Given the description of an element on the screen output the (x, y) to click on. 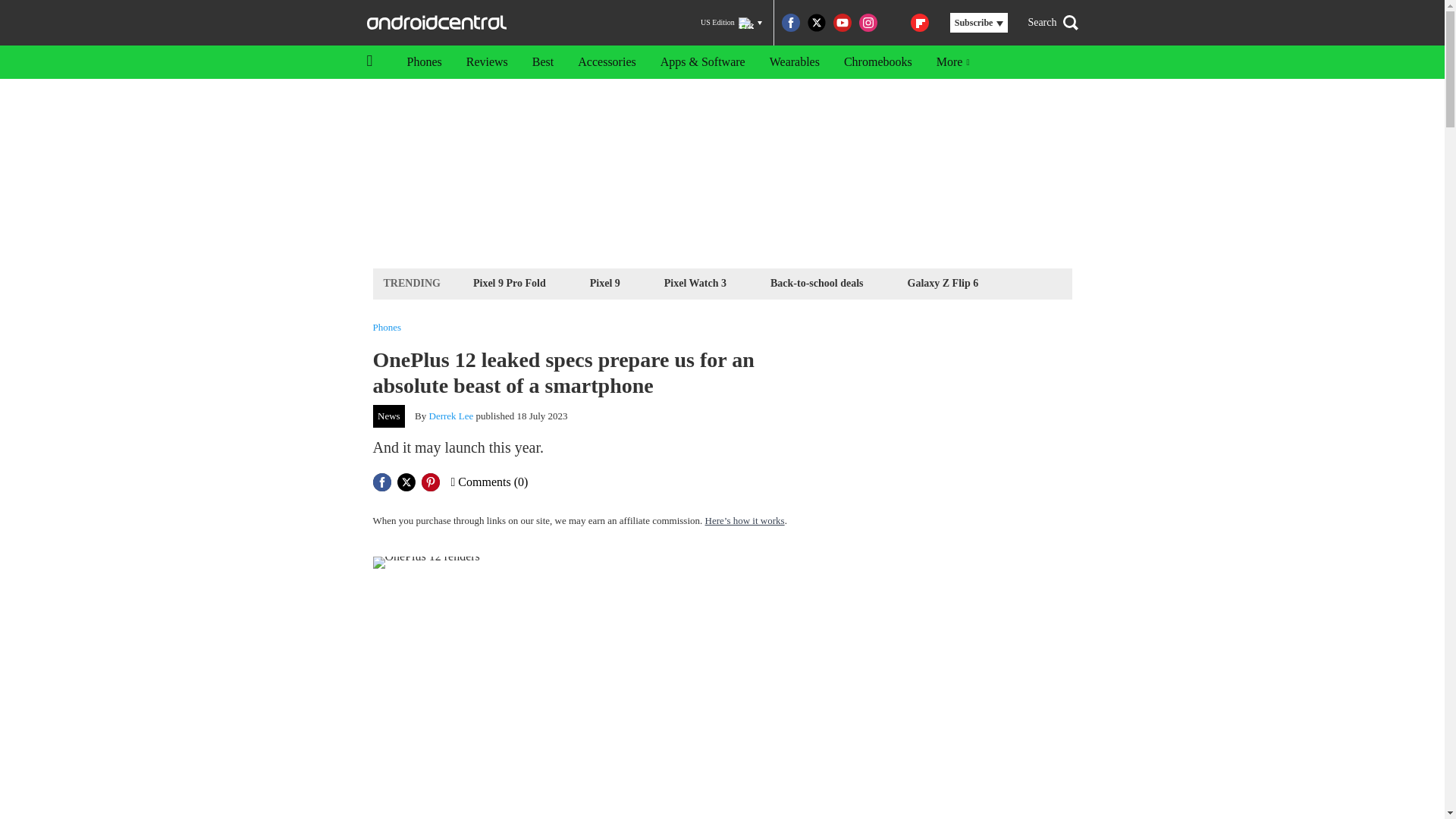
Wearables (794, 61)
Pixel Watch 3 (695, 282)
Galaxy Z Flip 6 (943, 282)
Accessories (606, 61)
Back-to-school deals (817, 282)
Phones (386, 327)
News (389, 415)
Derrek Lee (451, 415)
Best (542, 61)
Pixel 9 Pro Fold (509, 282)
